Given the description of an element on the screen output the (x, y) to click on. 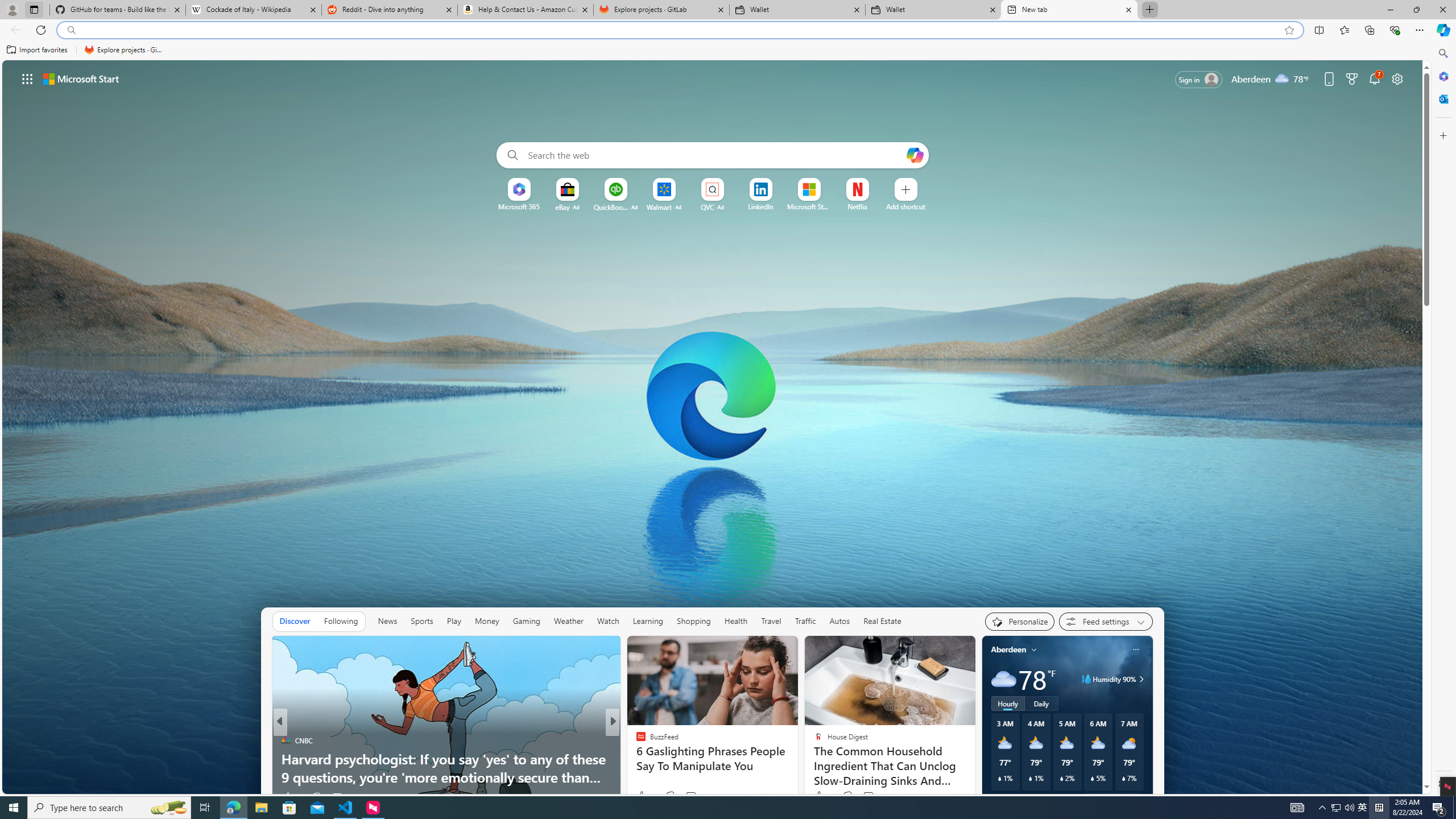
5k Like (291, 796)
View comments 8 Comment (695, 796)
42 Like (642, 796)
Page settings (1397, 78)
Search icon (70, 29)
Reddit - Dive into anything (390, 9)
